Given the description of an element on the screen output the (x, y) to click on. 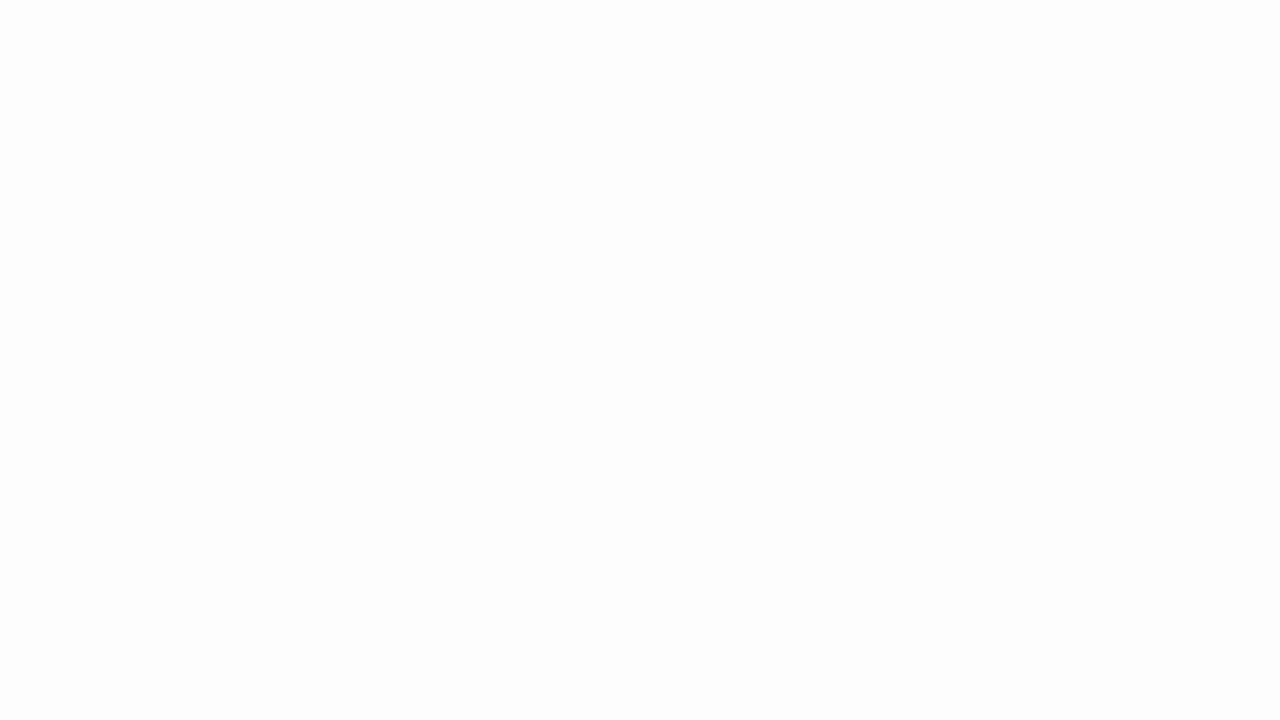
Format Painter (103, 126)
Number Format (794, 87)
Automate (588, 48)
